Given the description of an element on the screen output the (x, y) to click on. 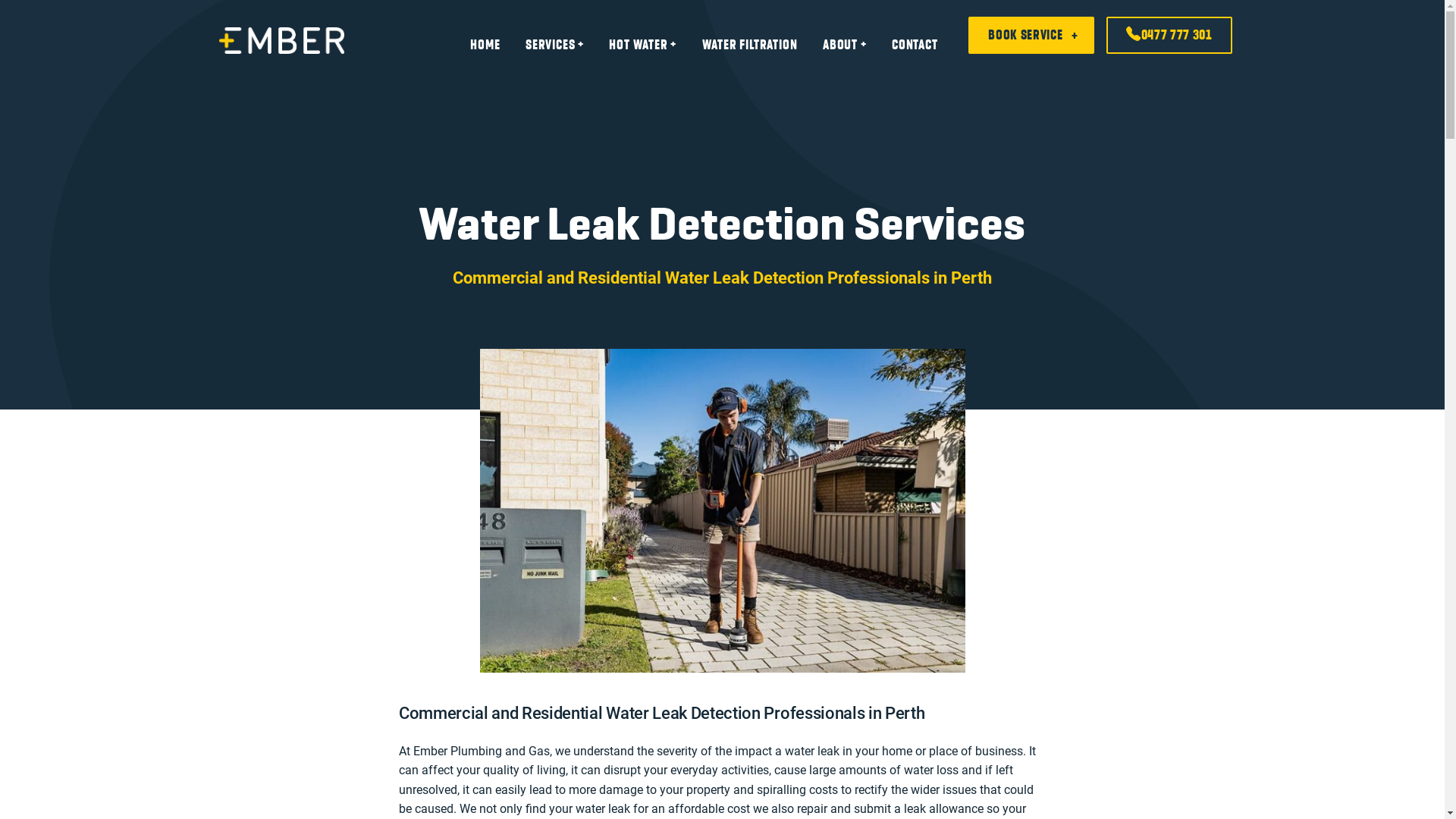
0477 777 301 Element type: text (1168, 34)
WATER FILTRATION Element type: text (749, 44)
BOOK SERVICE Element type: text (1031, 34)
HOT WATER + Element type: text (642, 44)
HOME Element type: text (484, 44)
ABOUT + Element type: text (844, 44)
SERVICES + Element type: text (554, 44)
CONTACT Element type: text (914, 44)
